Given the description of an element on the screen output the (x, y) to click on. 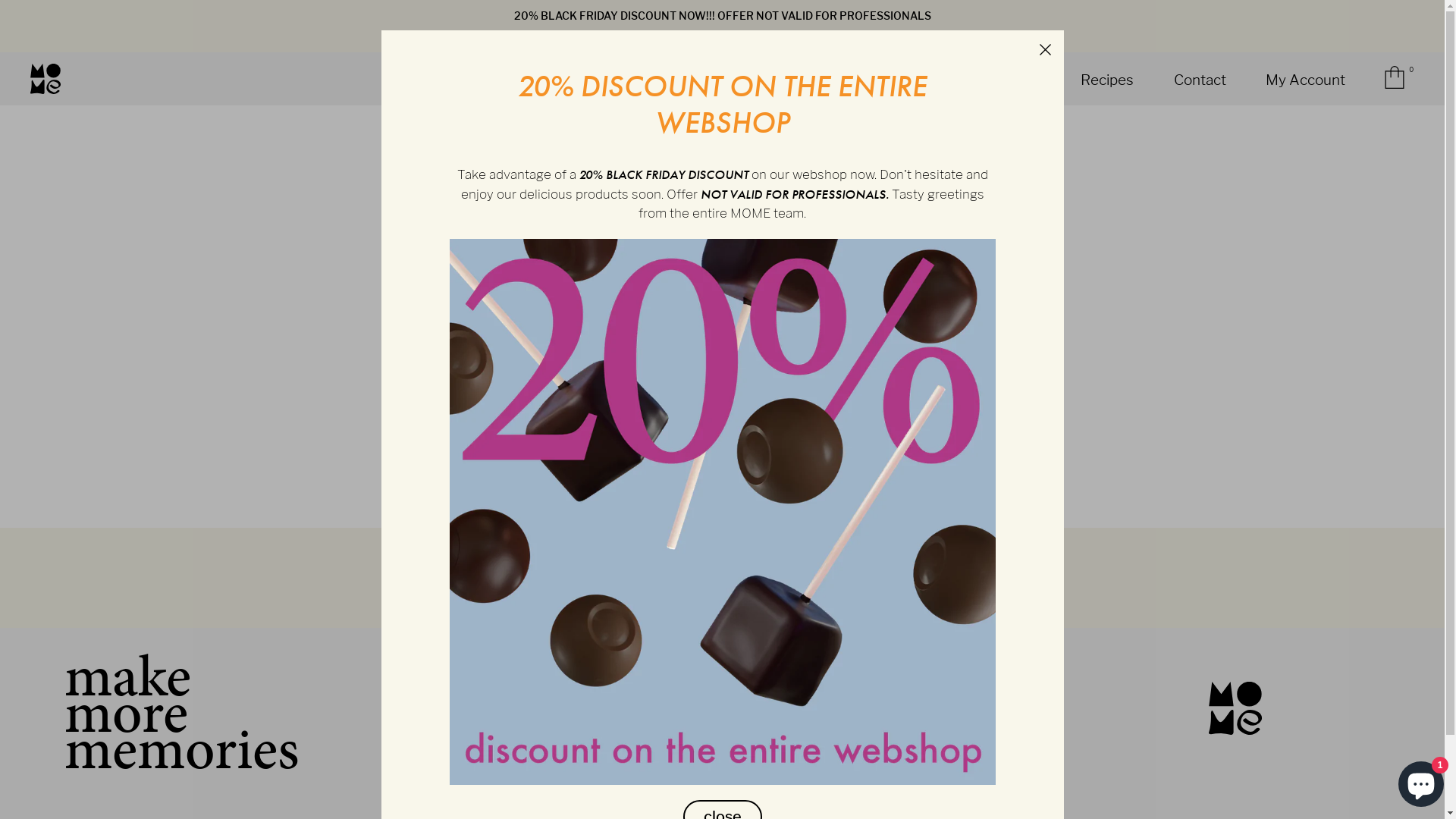
Close Element type: text (1045, 49)
Subscribe Element type: hover (825, 595)
make more memories Element type: text (162, 712)
Allergens Element type: text (861, 667)
Our story Element type: text (652, 79)
Cookie policy Element type: text (861, 705)
Cart
0 Element type: text (1398, 87)
Privacy policy Element type: text (862, 724)
Follow us on Facebook Element type: text (488, 746)
Follow us on Instagram Element type: text (519, 746)
Terms & conditions Element type: text (861, 686)
Recipes Element type: text (1106, 79)
My Account Element type: text (1305, 79)
Translation missing: en.general.social.follow_on_pinterest Element type: text (458, 746)
here Element type: text (791, 205)
Dealers Element type: text (861, 744)
Sample pack Element type: text (996, 79)
Contact Element type: text (1199, 79)
Site by Esign Element type: text (1408, 780)
Shopify online store chat Element type: hover (1420, 780)
